Given the description of an element on the screen output the (x, y) to click on. 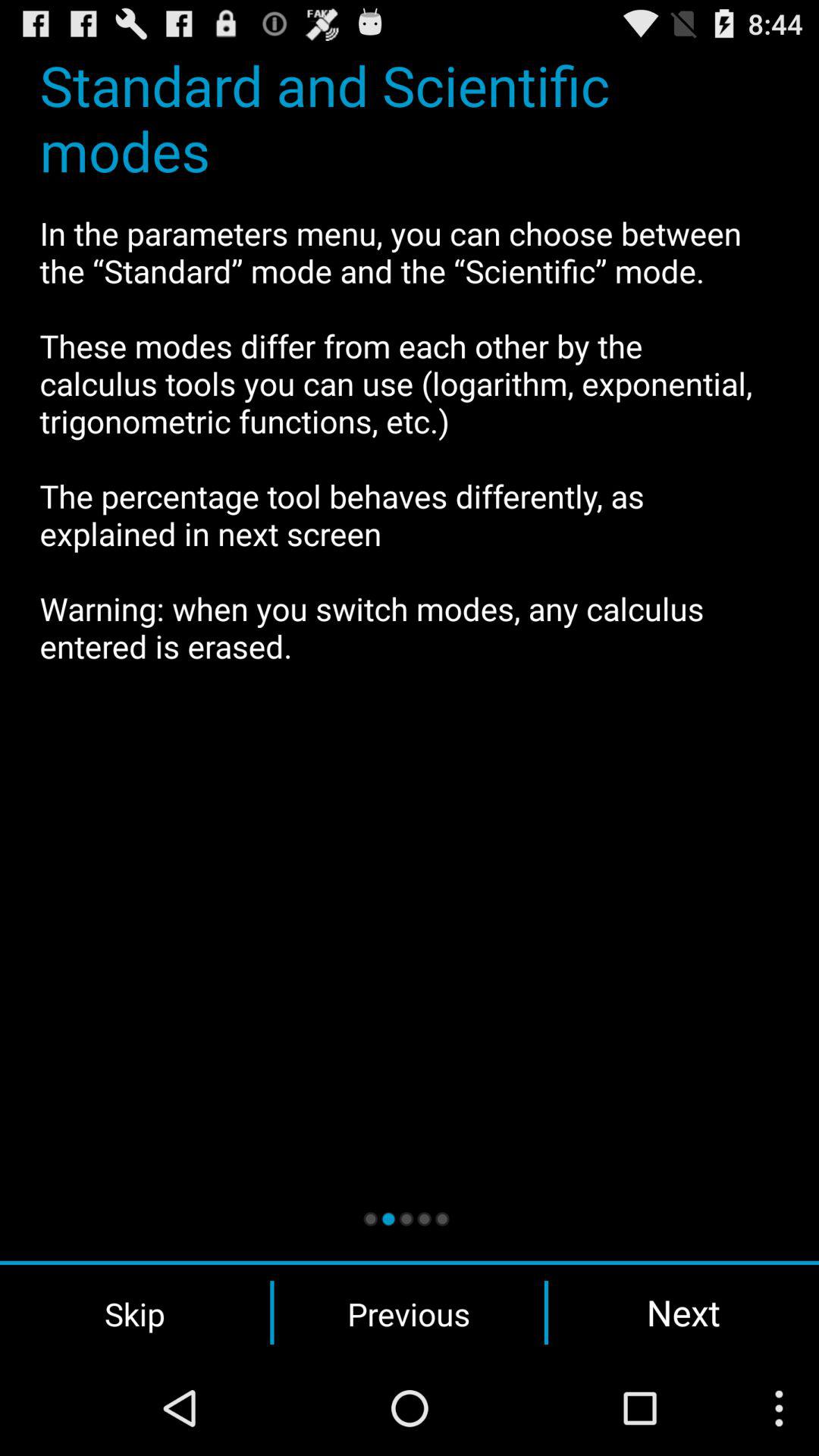
flip until the next item (683, 1312)
